Given the description of an element on the screen output the (x, y) to click on. 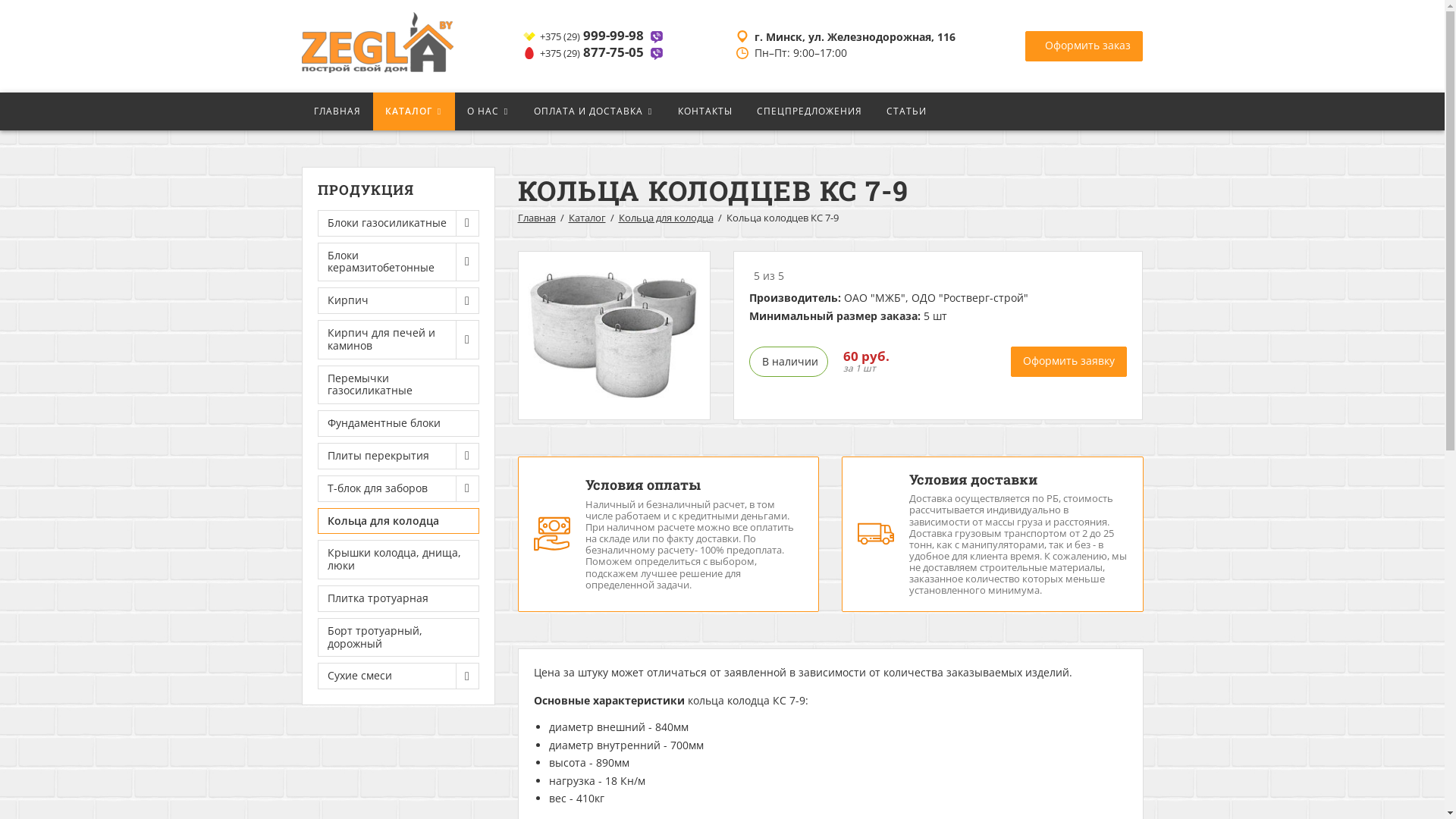
+375 (29) 999-99-98 Element type: text (594, 36)
+375 (29) 877-75-05 Element type: text (594, 52)
